Given the description of an element on the screen output the (x, y) to click on. 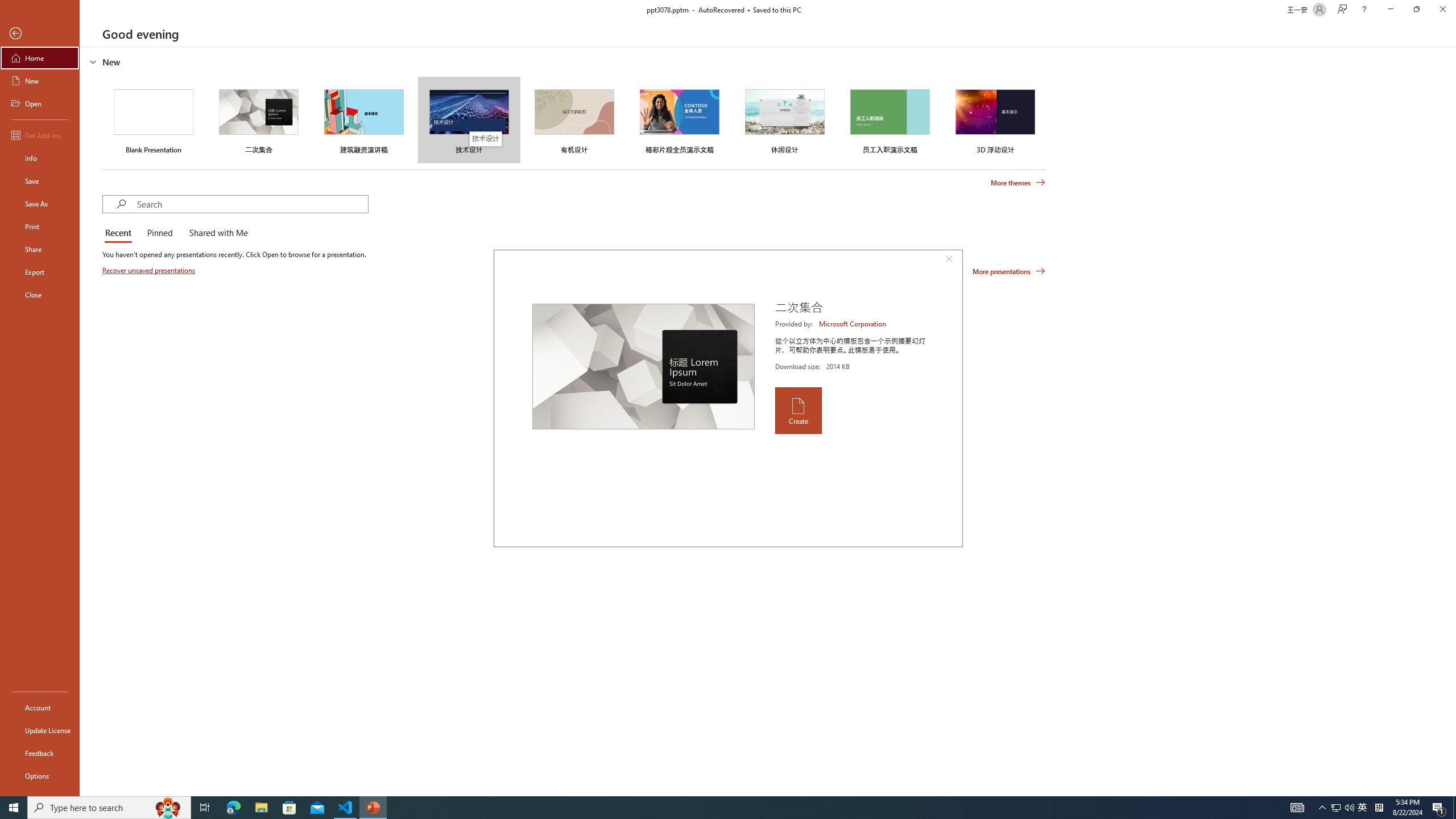
Recover unsaved presentations (149, 270)
Shared with Me (215, 233)
Account (40, 707)
Print (40, 225)
Back (40, 33)
